Given the description of an element on the screen output the (x, y) to click on. 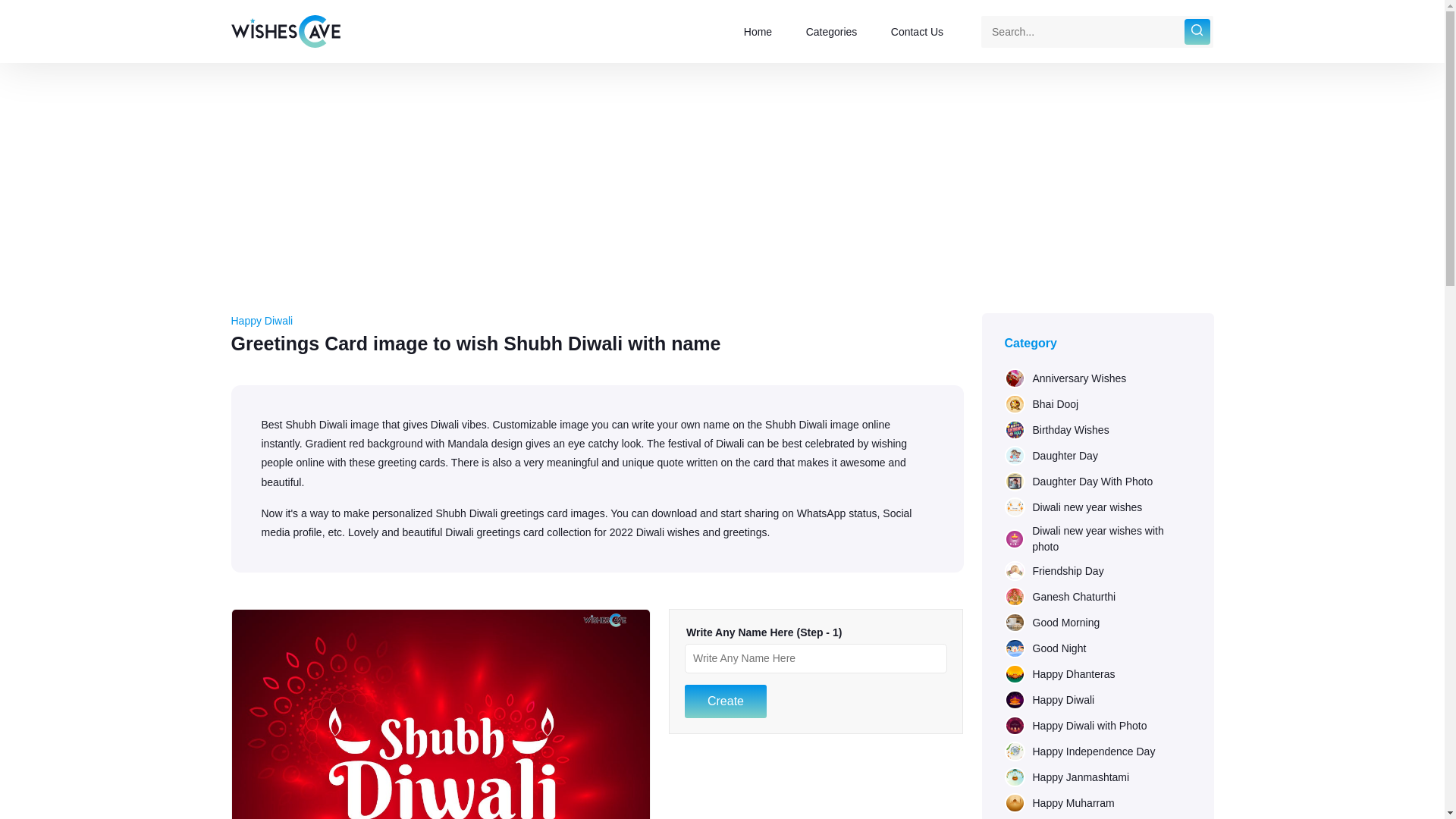
Happy Diwali (261, 320)
Categories (831, 32)
Contact Us (917, 32)
Create (725, 701)
Advertisement (815, 780)
Home (757, 32)
